Given the description of an element on the screen output the (x, y) to click on. 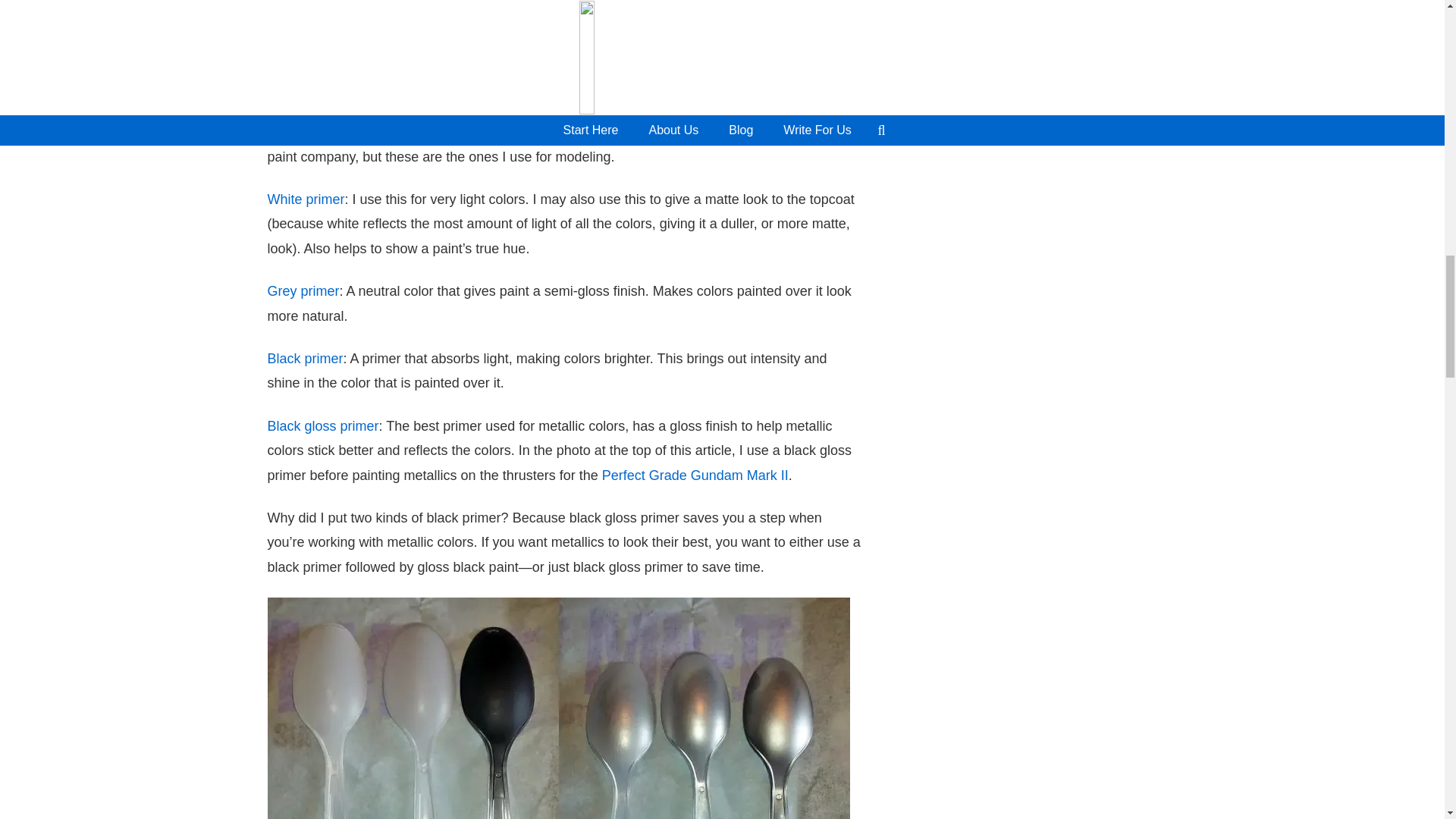
Perfect Grade Gundam Mark II (695, 475)
Black primer (304, 358)
Black gloss primer (322, 426)
White primer (304, 199)
Grey primer (302, 290)
